Given the description of an element on the screen output the (x, y) to click on. 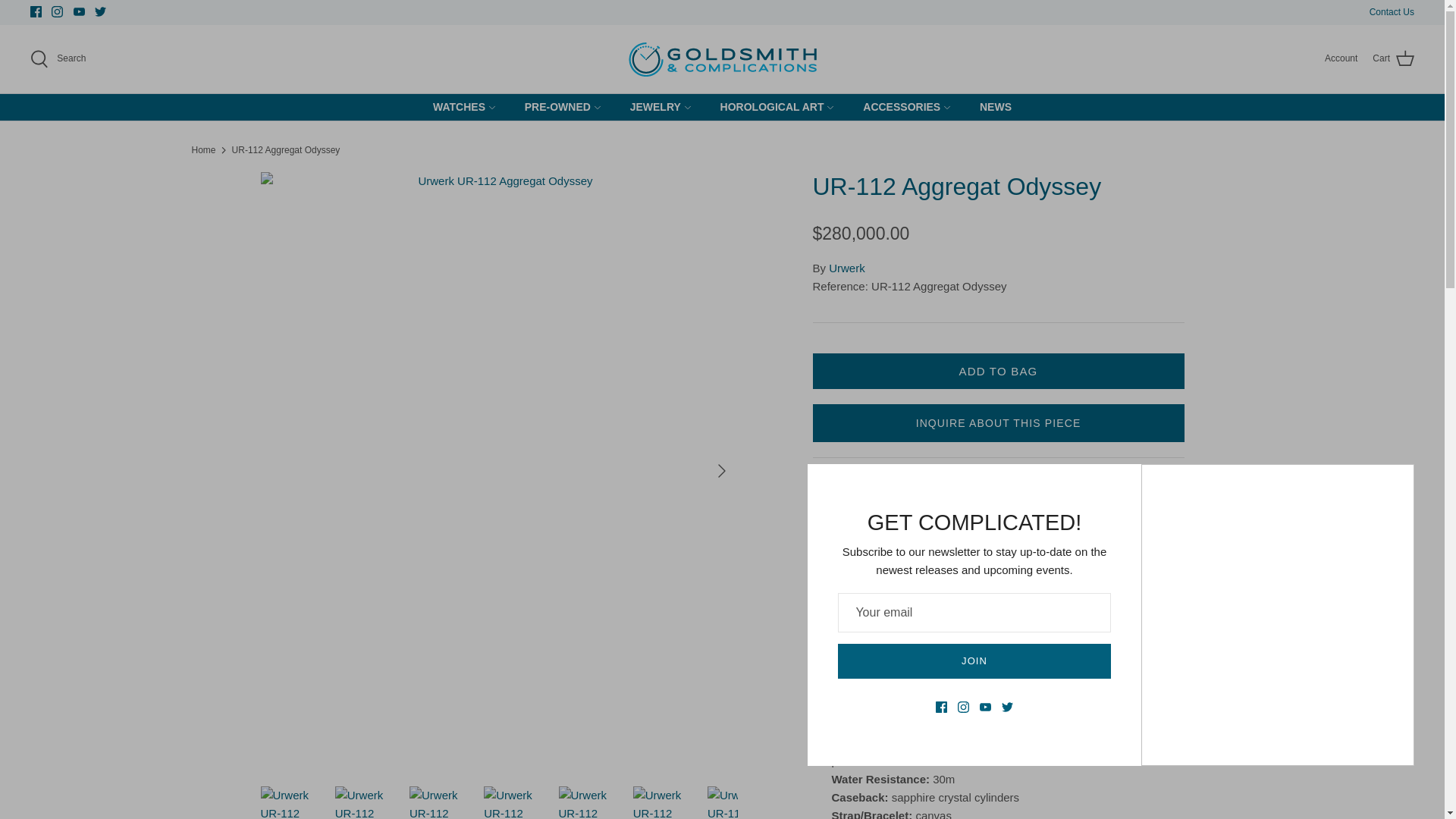
Account (1340, 58)
WATCHES (459, 107)
Youtube (79, 11)
Search (57, 58)
Toggle menu (687, 107)
Toggle menu (597, 107)
Toggle menu (491, 106)
PRE-OWNED (557, 107)
Toggle menu (491, 107)
Cart (1393, 58)
Toggle menu (597, 106)
Instagram (56, 11)
Toggle menu (830, 107)
Facebook (36, 11)
Twitter (100, 11)
